Given the description of an element on the screen output the (x, y) to click on. 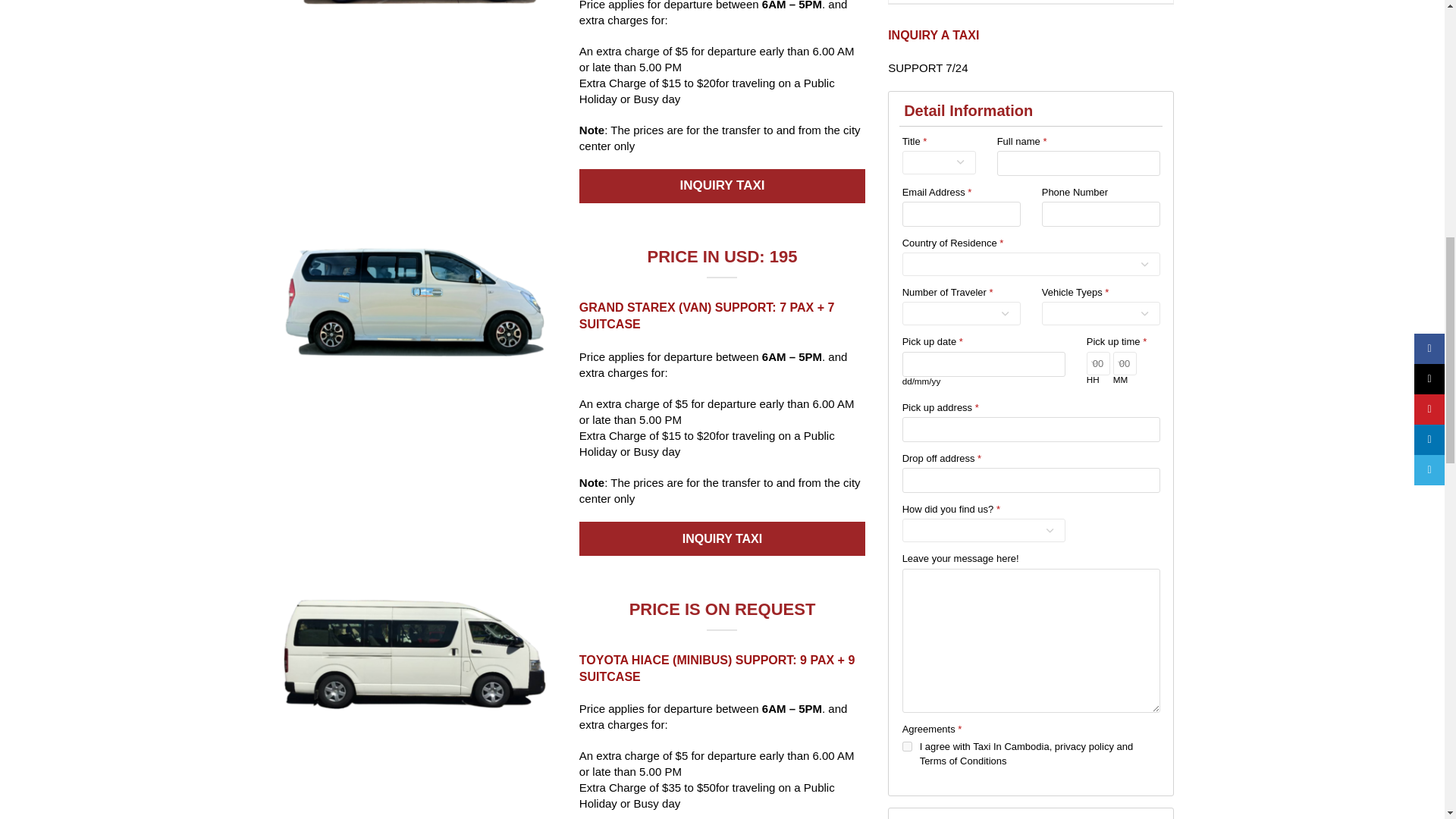
Inquiry Taxi (721, 538)
Inquiry Taxi (721, 185)
